Given the description of an element on the screen output the (x, y) to click on. 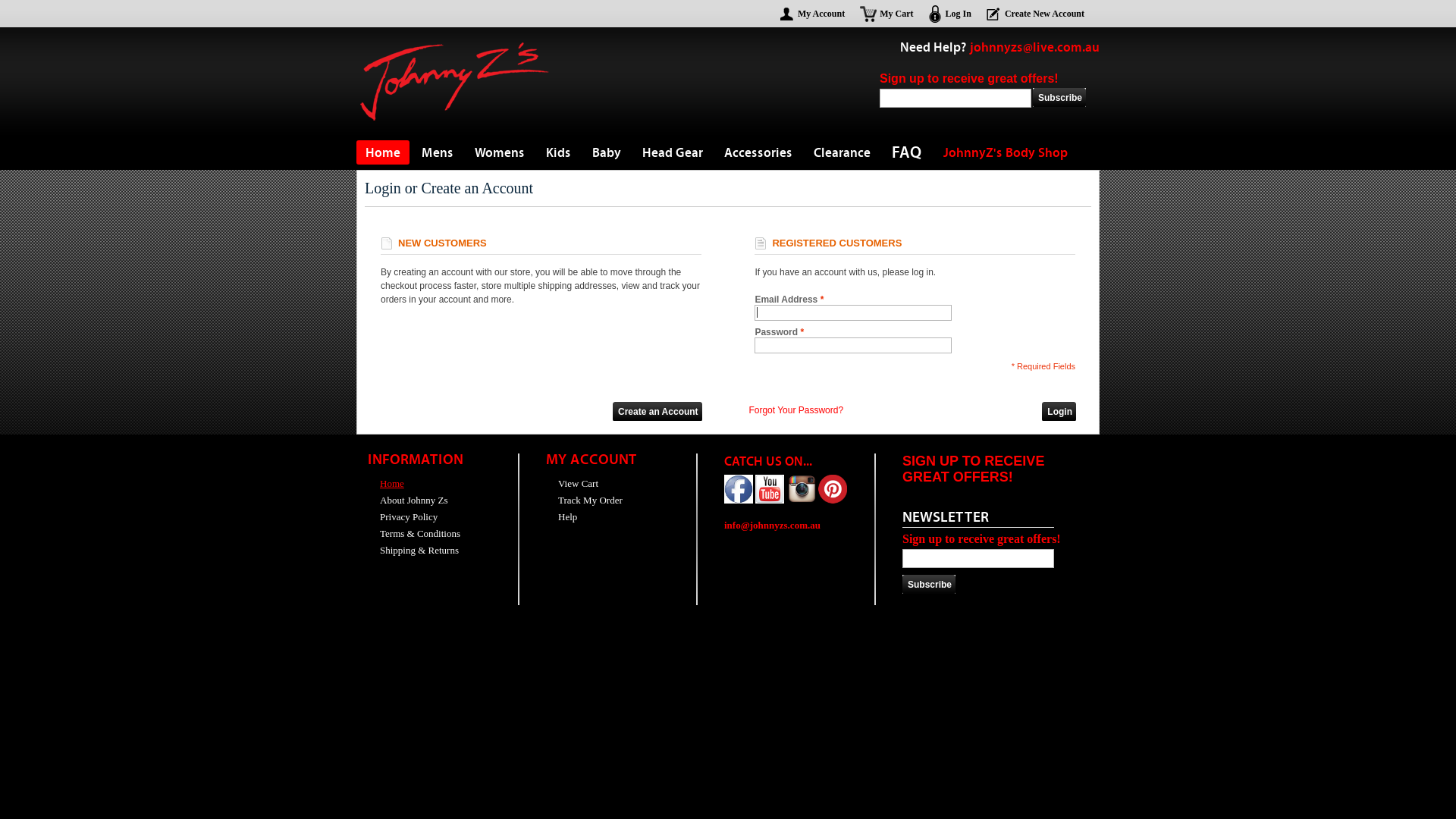
johnnyzs@live.com.au Element type: text (1034, 46)
Log In Element type: text (949, 13)
My Cart Element type: text (886, 13)
Sign up for our newsletter Element type: hover (955, 97)
Password Element type: hover (852, 345)
Track My Order Element type: text (584, 499)
Create an Account Element type: text (659, 411)
Accessories Element type: text (758, 152)
Womens Element type: text (499, 152)
Clearance Element type: text (841, 152)
JohnnyZ's Body Shop Element type: text (1005, 152)
View Cart Element type: text (572, 483)
Home Element type: text (382, 152)
Login Element type: text (1061, 411)
About Johnny Zs Element type: text (407, 499)
Create New Account Element type: text (1035, 13)
Subscribe Element type: text (931, 584)
FAQ Element type: text (906, 152)
Mens Element type: text (437, 152)
Home Element type: text (385, 483)
Help Element type: text (561, 516)
Baby Element type: text (606, 152)
Email Address Element type: hover (852, 312)
Johnny z's Element type: hover (454, 47)
Privacy Policy Element type: text (402, 516)
Sign up for our newsletter Element type: hover (978, 558)
My Account Element type: text (812, 13)
Terms & Conditions Element type: text (413, 533)
Kids Element type: text (558, 152)
Forgot Your Password? Element type: text (795, 409)
Subscribe Element type: text (1061, 98)
Head Gear Element type: text (672, 152)
Shipping & Returns Element type: text (412, 549)
